Given the description of an element on the screen output the (x, y) to click on. 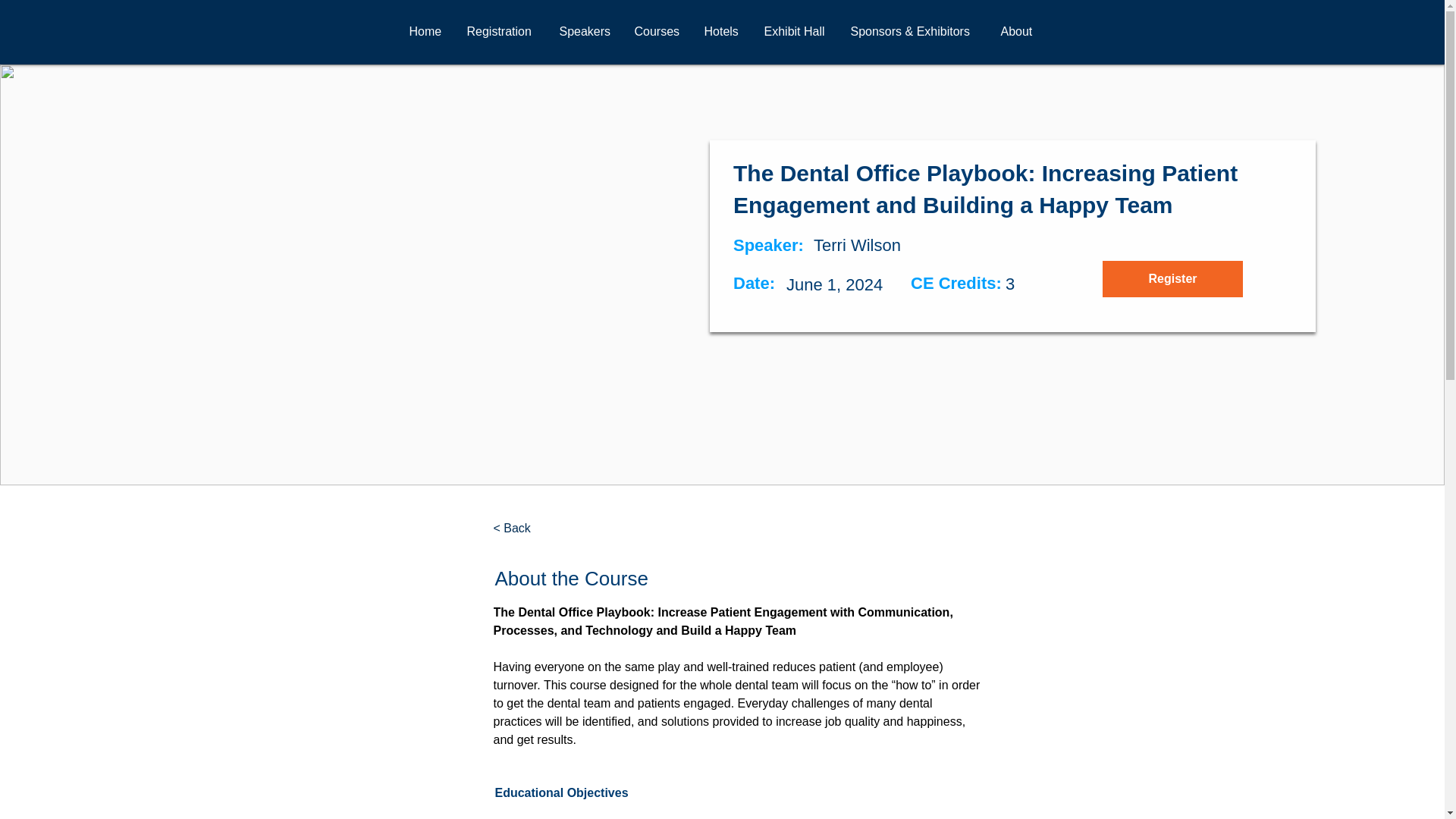
Home (425, 31)
Speakers (585, 31)
Courses (658, 31)
Register (1172, 279)
About (1017, 31)
Hotels (722, 31)
Registration (500, 31)
Exhibit Hall (795, 31)
